Given the description of an element on the screen output the (x, y) to click on. 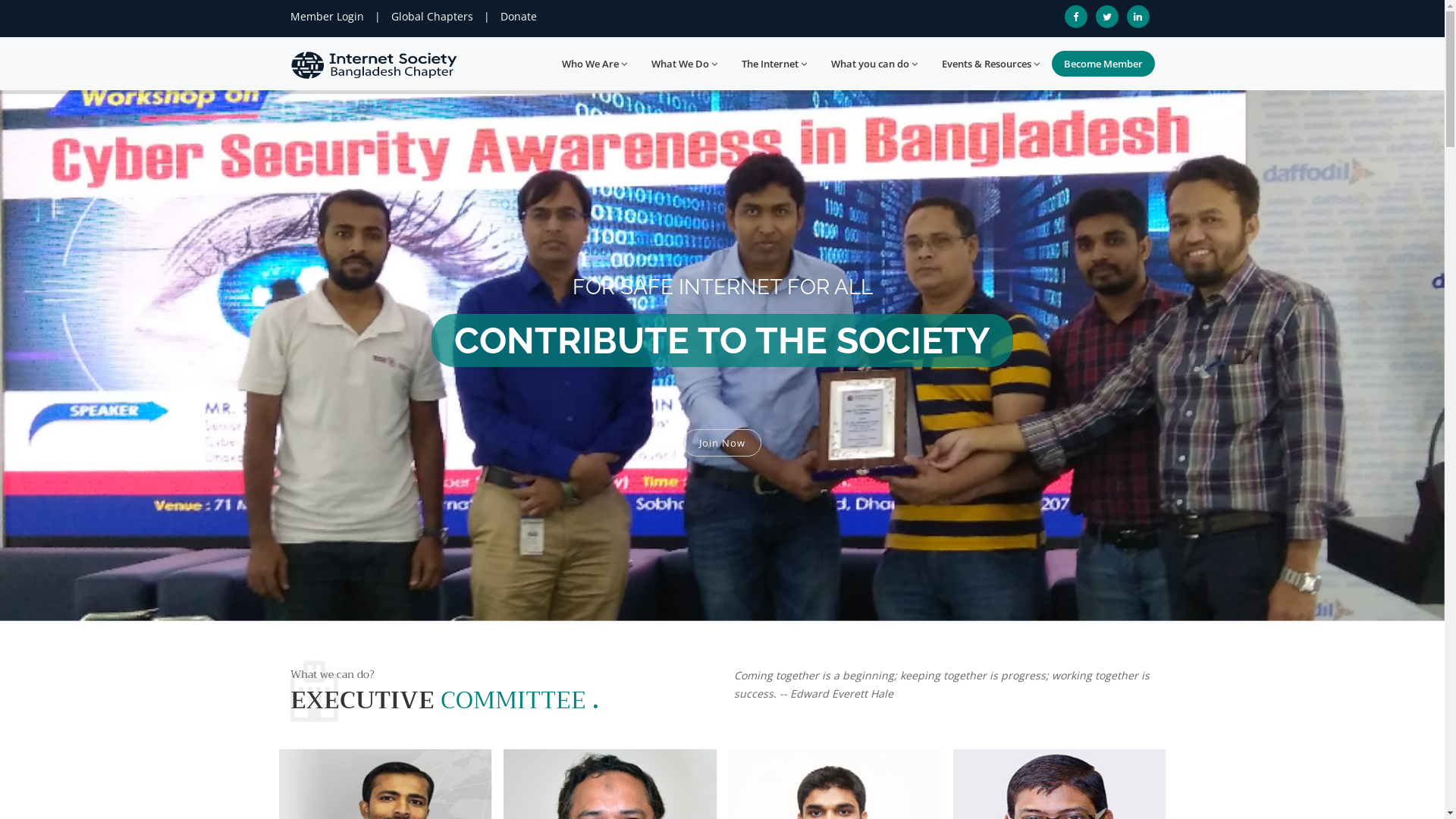
What you can do Element type: text (874, 63)
Become Member Element type: text (1102, 63)
Who We Are Element type: text (593, 63)
What We Do Element type: text (683, 63)
The Internet Element type: text (774, 63)
Member Login Element type: text (326, 16)
Global Chapters Element type: text (432, 16)
Donate Element type: text (518, 16)
Events & Resources Element type: text (990, 63)
